Given the description of an element on the screen output the (x, y) to click on. 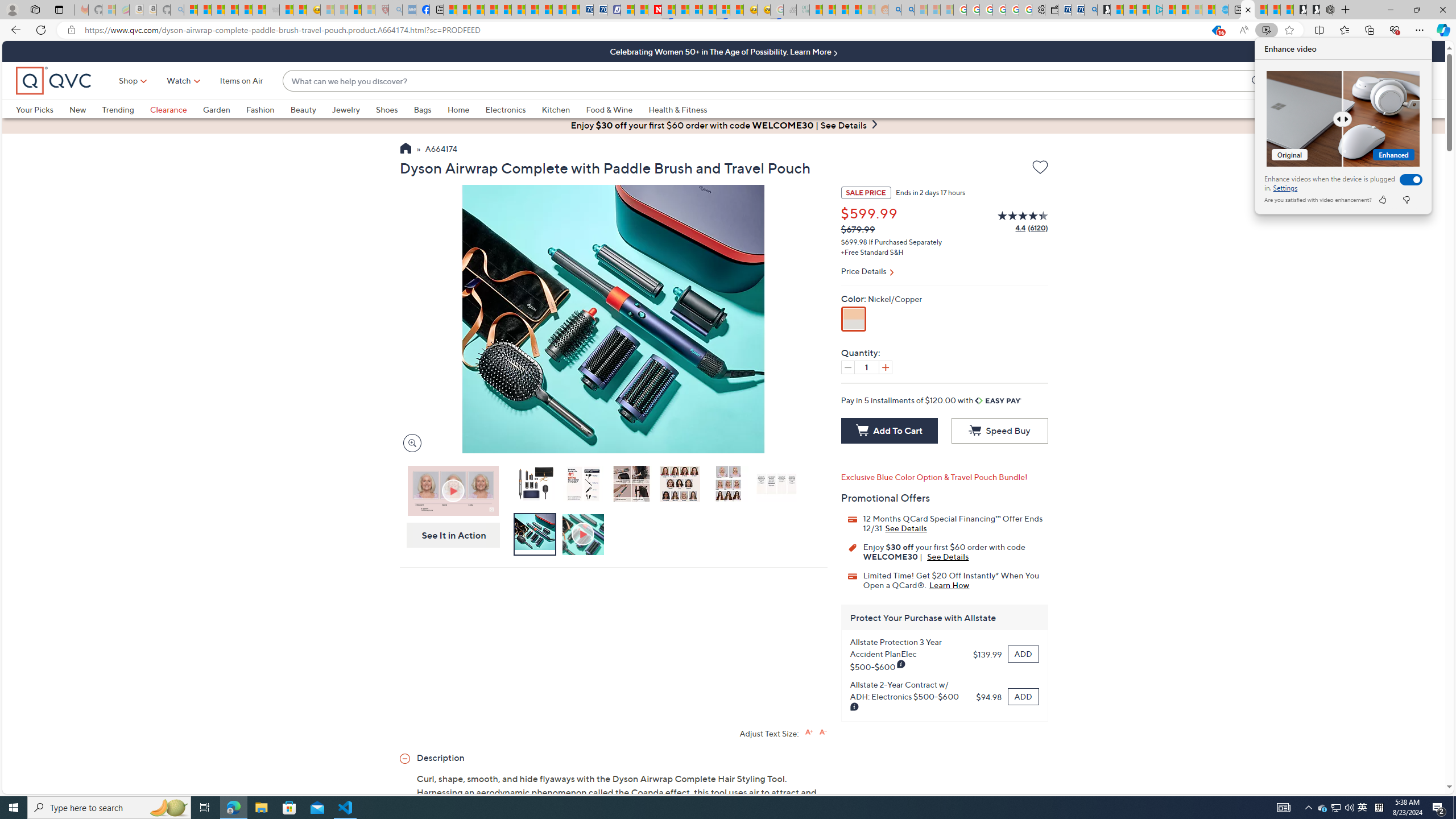
New Report Confirms 2023 Was Record Hot | Watch (245, 9)
Health & Fitness (680, 109)
How to Use (583, 534)
Electronics (512, 109)
Utah sues federal government - Search (907, 9)
Trending (125, 109)
Action Center, 2 new notifications (1439, 807)
